Given the description of an element on the screen output the (x, y) to click on. 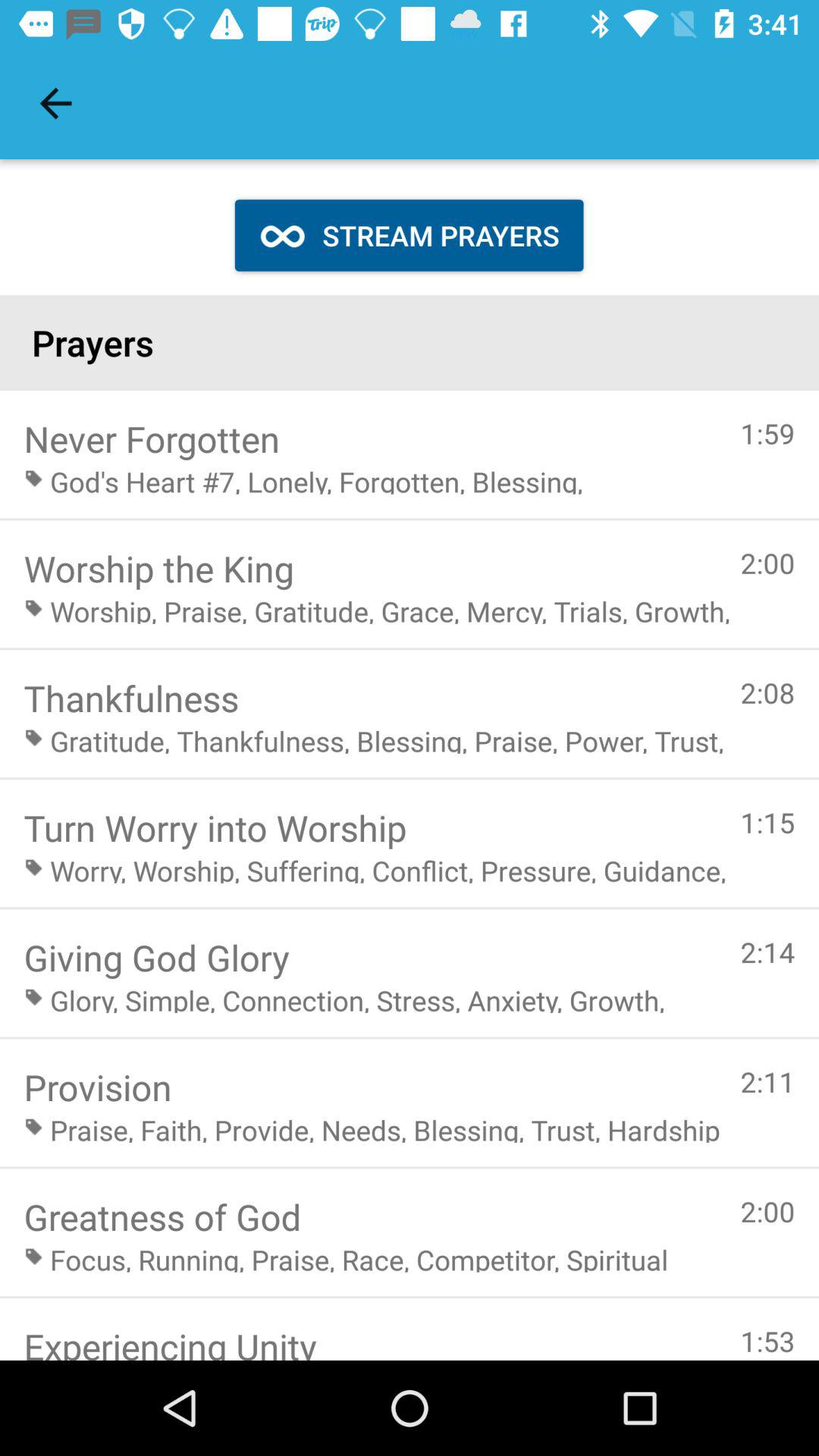
select the item at the top left corner (55, 103)
